Given the description of an element on the screen output the (x, y) to click on. 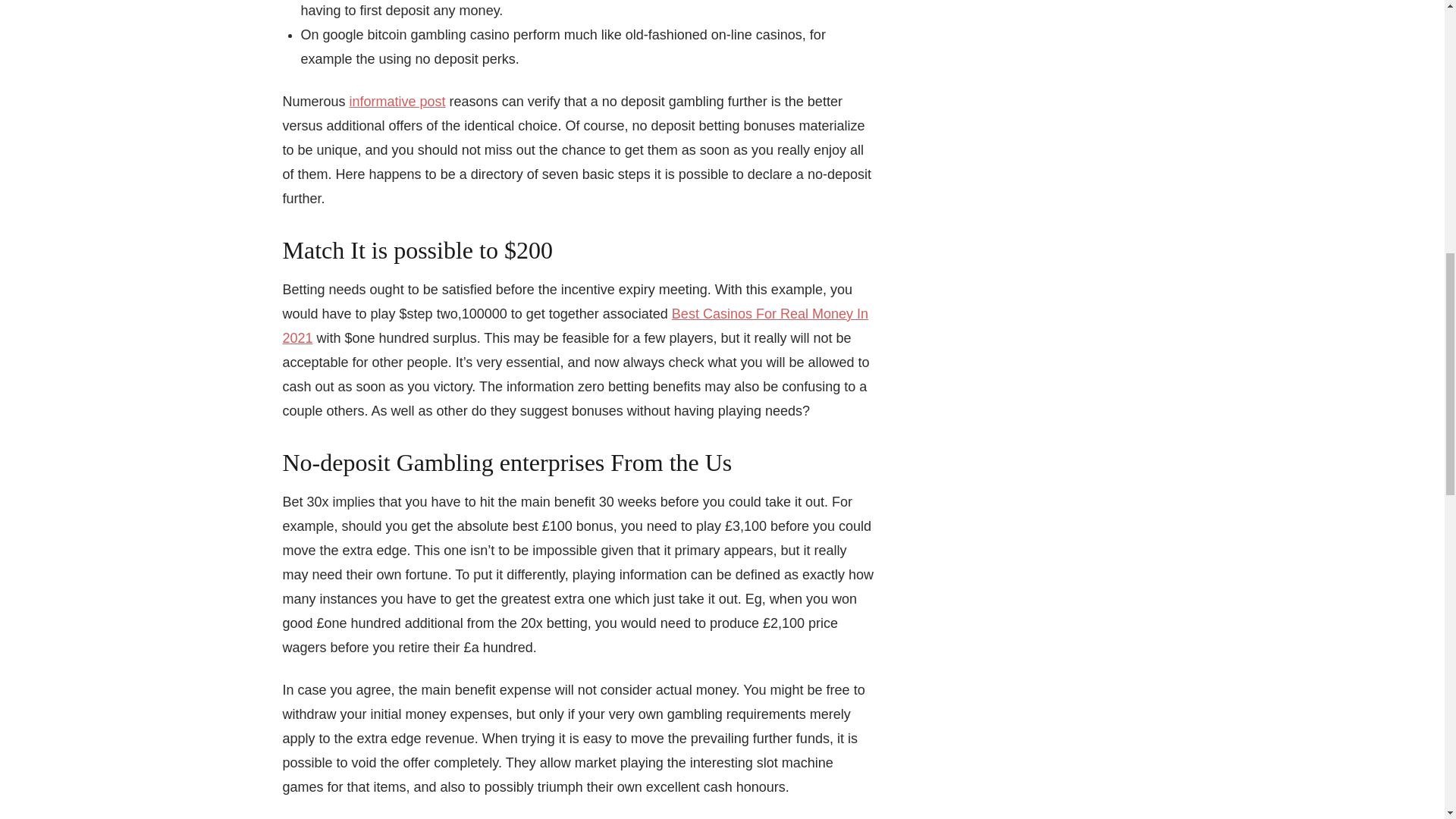
Best Casinos For Real Money In 2021 (574, 325)
informative post (397, 101)
